Given the description of an element on the screen output the (x, y) to click on. 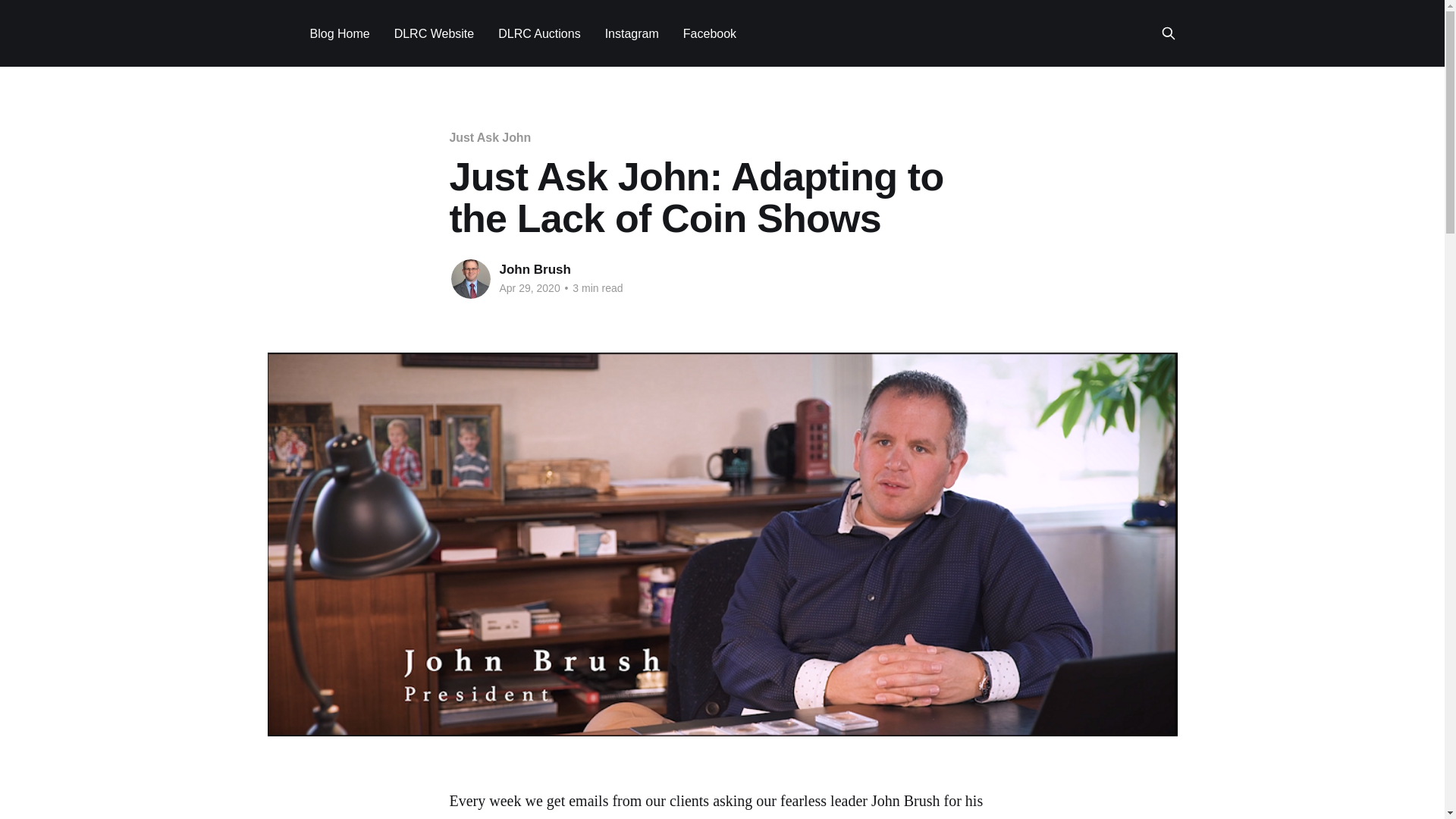
John Brush (534, 269)
DLRC Auctions (538, 33)
Instagram (632, 33)
DLRC Website (434, 33)
Facebook (709, 33)
Blog Home (338, 33)
Just Ask John (489, 137)
